Given the description of an element on the screen output the (x, y) to click on. 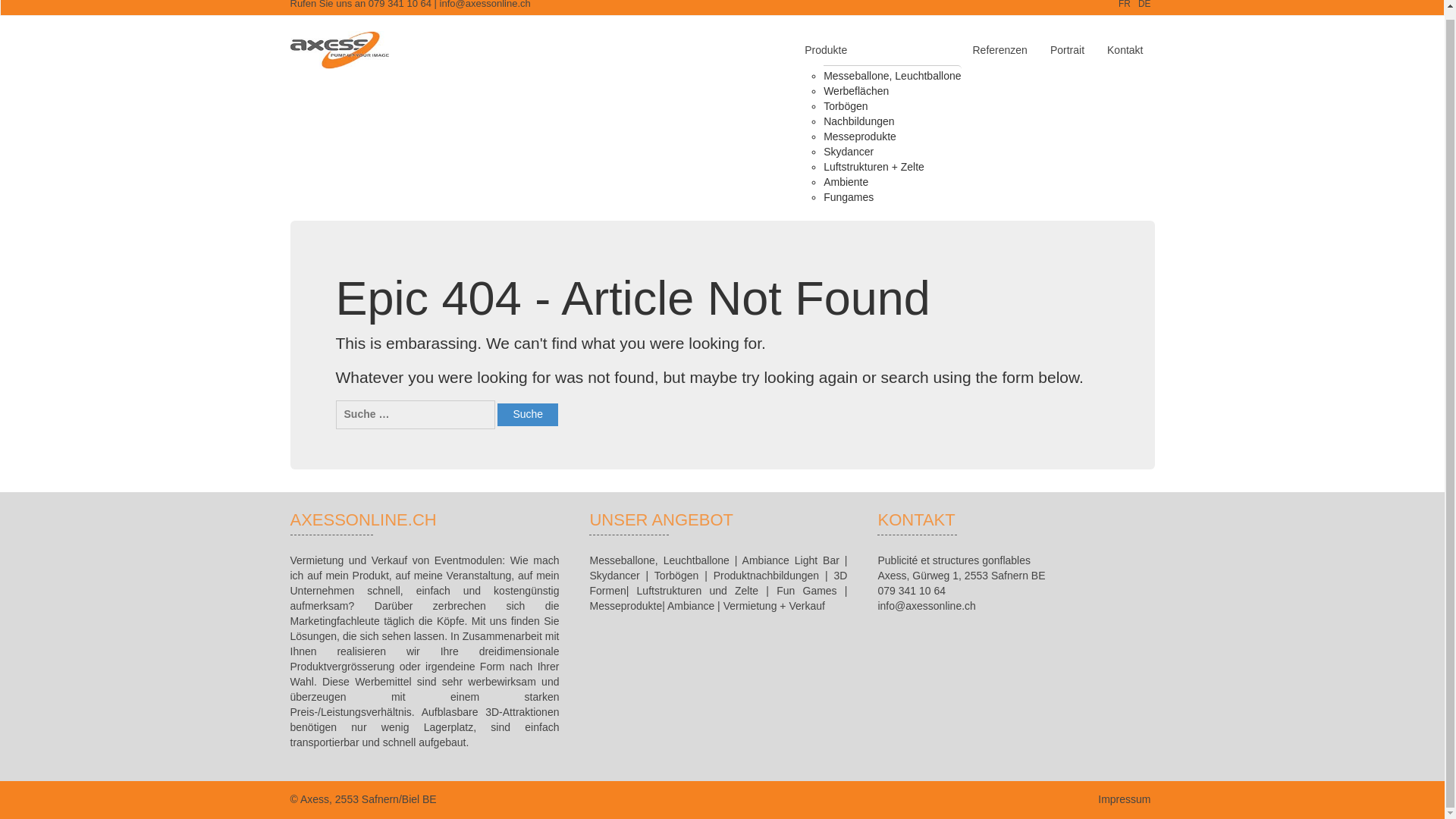
Suche (527, 414)
Ambiente (845, 181)
Suche (527, 414)
Kontakt (1125, 49)
DE (1144, 4)
Suche (527, 414)
FR (1124, 4)
Impressum (1123, 799)
Skydancer (848, 151)
Fungames (848, 197)
